Given the description of an element on the screen output the (x, y) to click on. 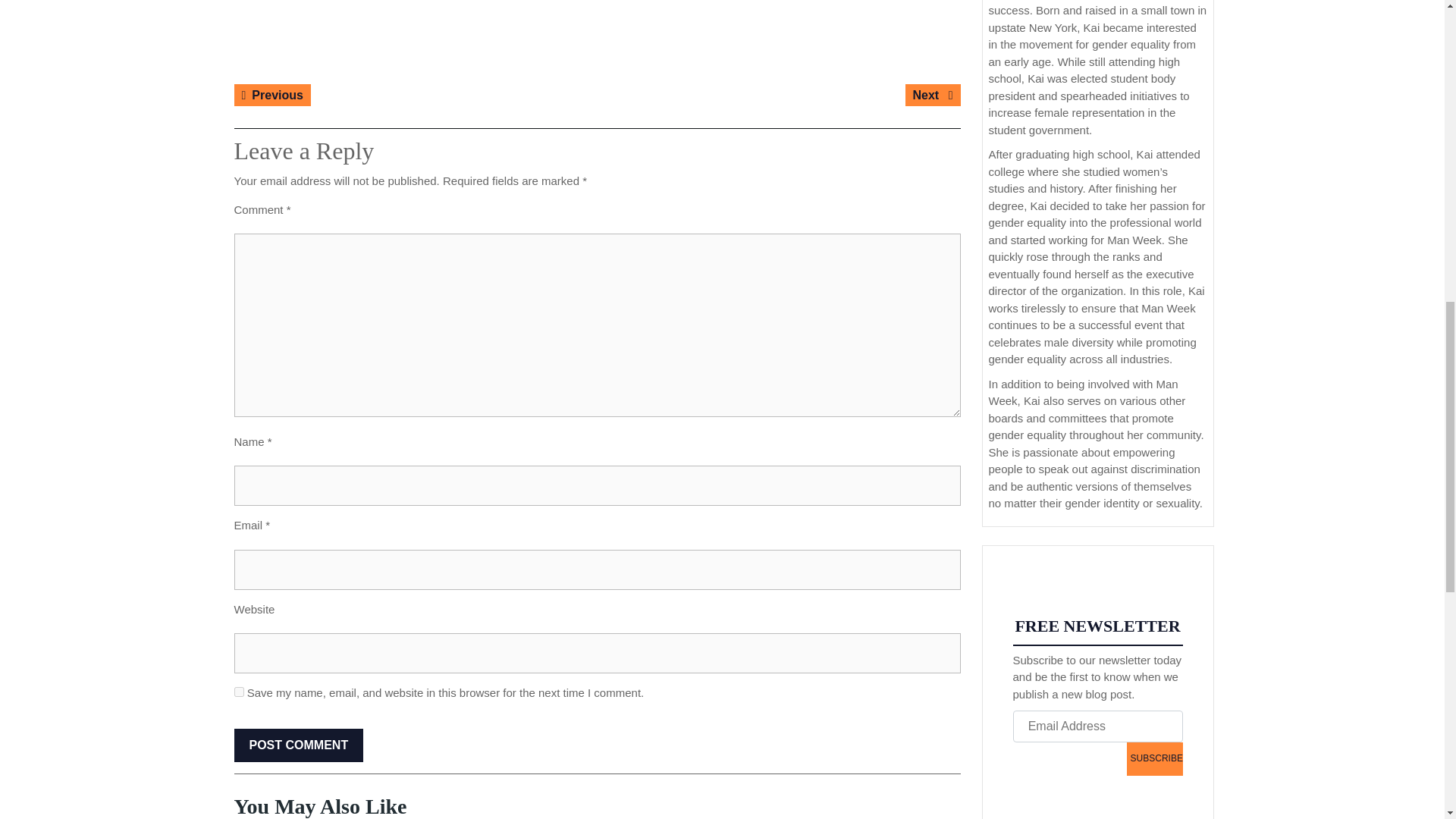
Post Comment (271, 95)
Post Comment (297, 745)
SUBSCRIBE NOW (297, 745)
yes (1154, 758)
SUBSCRIBE NOW (237, 691)
